Given the description of an element on the screen output the (x, y) to click on. 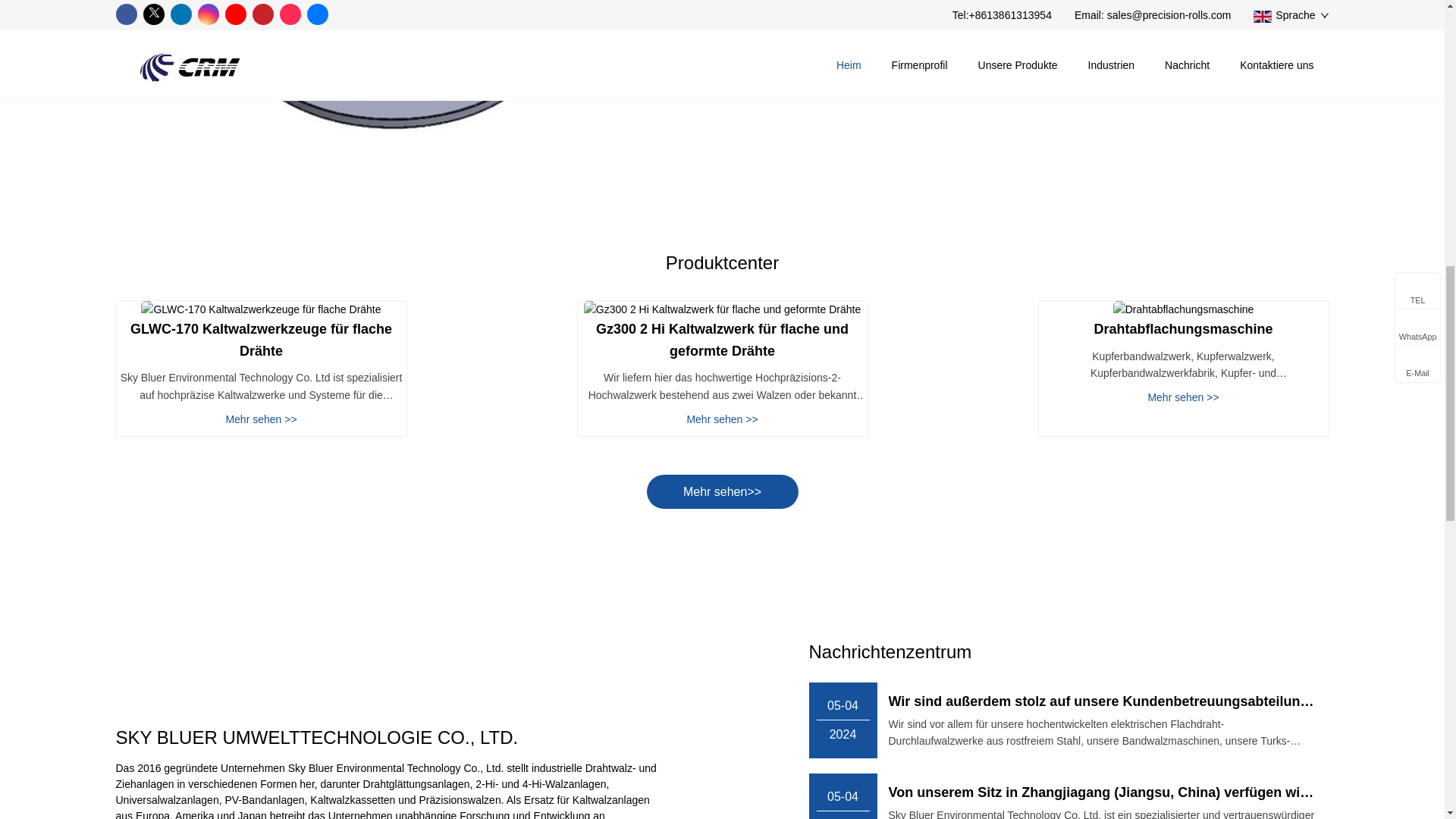
Product Center (721, 492)
